Given the description of an element on the screen output the (x, y) to click on. 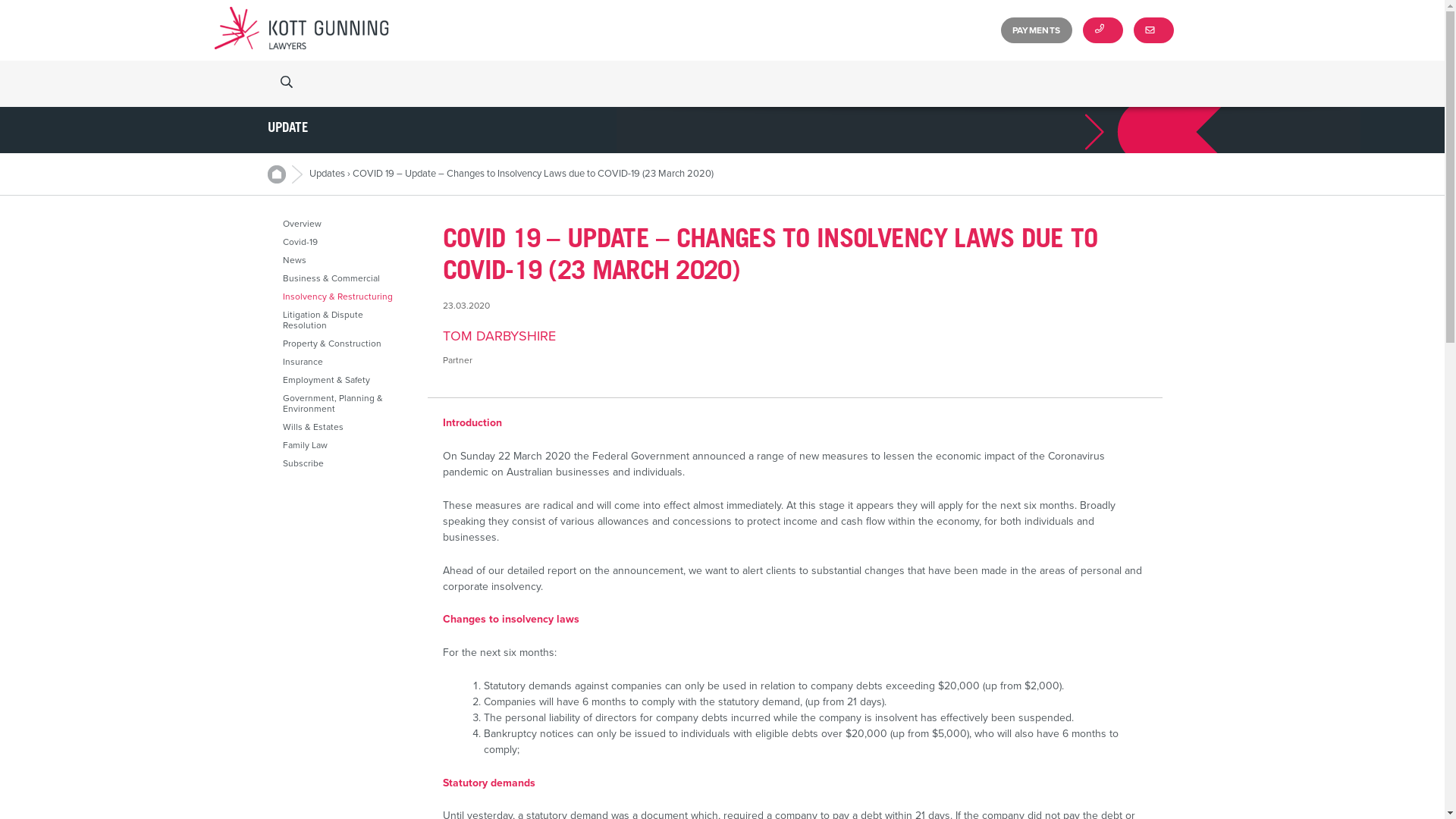
Employment & Safety Element type: text (344, 379)
Family Law Element type: text (344, 444)
Wills & Estates Element type: text (344, 426)
Property & Construction Element type: text (344, 343)
PAYMENTS Element type: text (1036, 30)
Insolvency & Restructuring Element type: text (344, 296)
Overview Element type: text (344, 223)
Covid-19 Element type: text (344, 241)
Business & Commercial Element type: text (344, 278)
News Element type: text (344, 259)
Home Element type: text (283, 174)
Subscribe Element type: text (344, 463)
Kott Gunning Lawyers Element type: hover (300, 29)
Insurance Element type: text (344, 361)
TOM DARBYSHIRE Element type: text (794, 335)
Litigation & Dispute Resolution Element type: text (344, 319)
Updates Element type: text (327, 173)
Government, Planning & Environment Element type: text (344, 403)
